Given the description of an element on the screen output the (x, y) to click on. 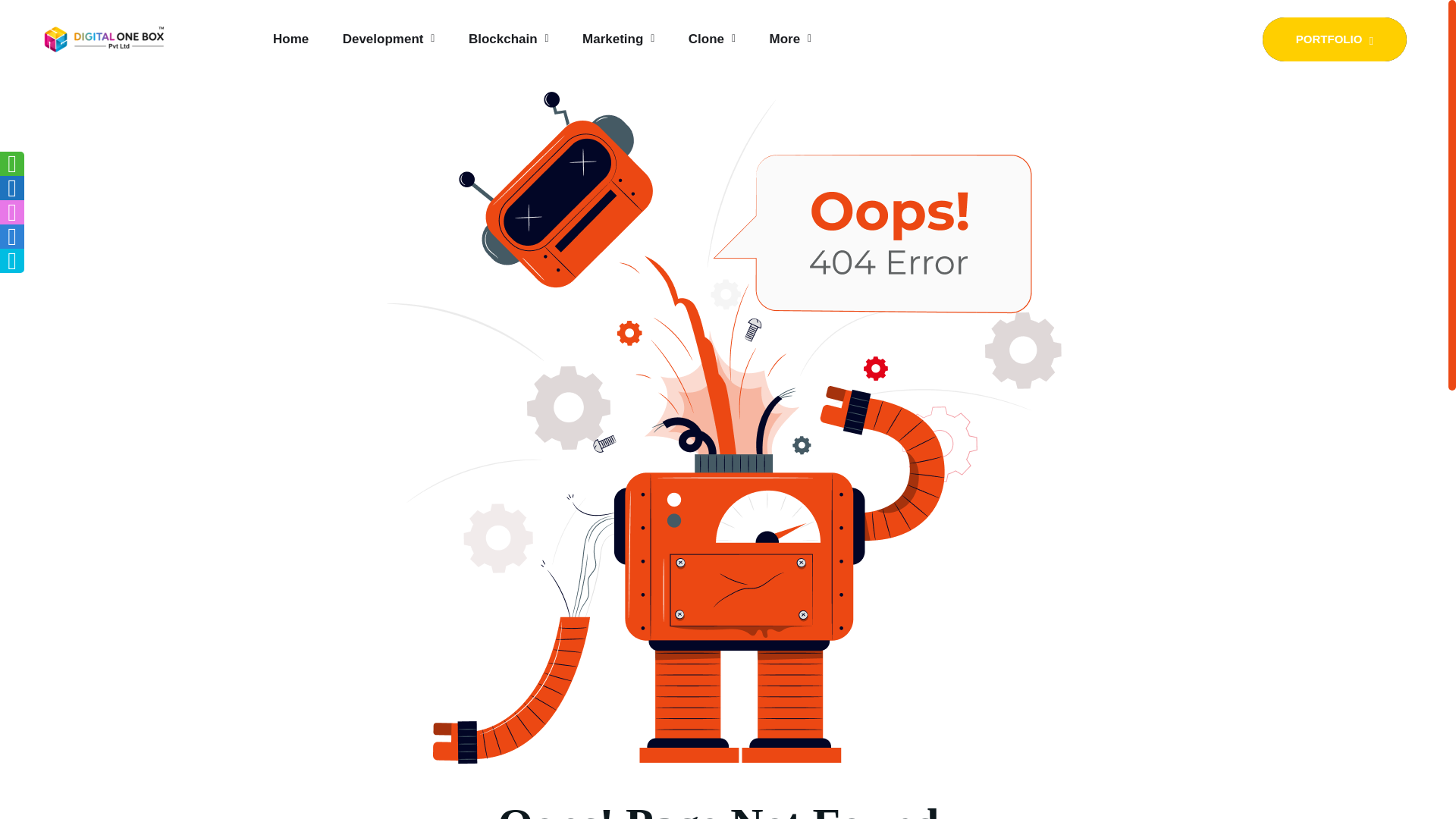
Blockchain (508, 38)
Marketing (617, 38)
PORTFOLIO (1334, 38)
Development (388, 38)
More (789, 38)
Home (290, 38)
Clone (711, 38)
